Given the description of an element on the screen output the (x, y) to click on. 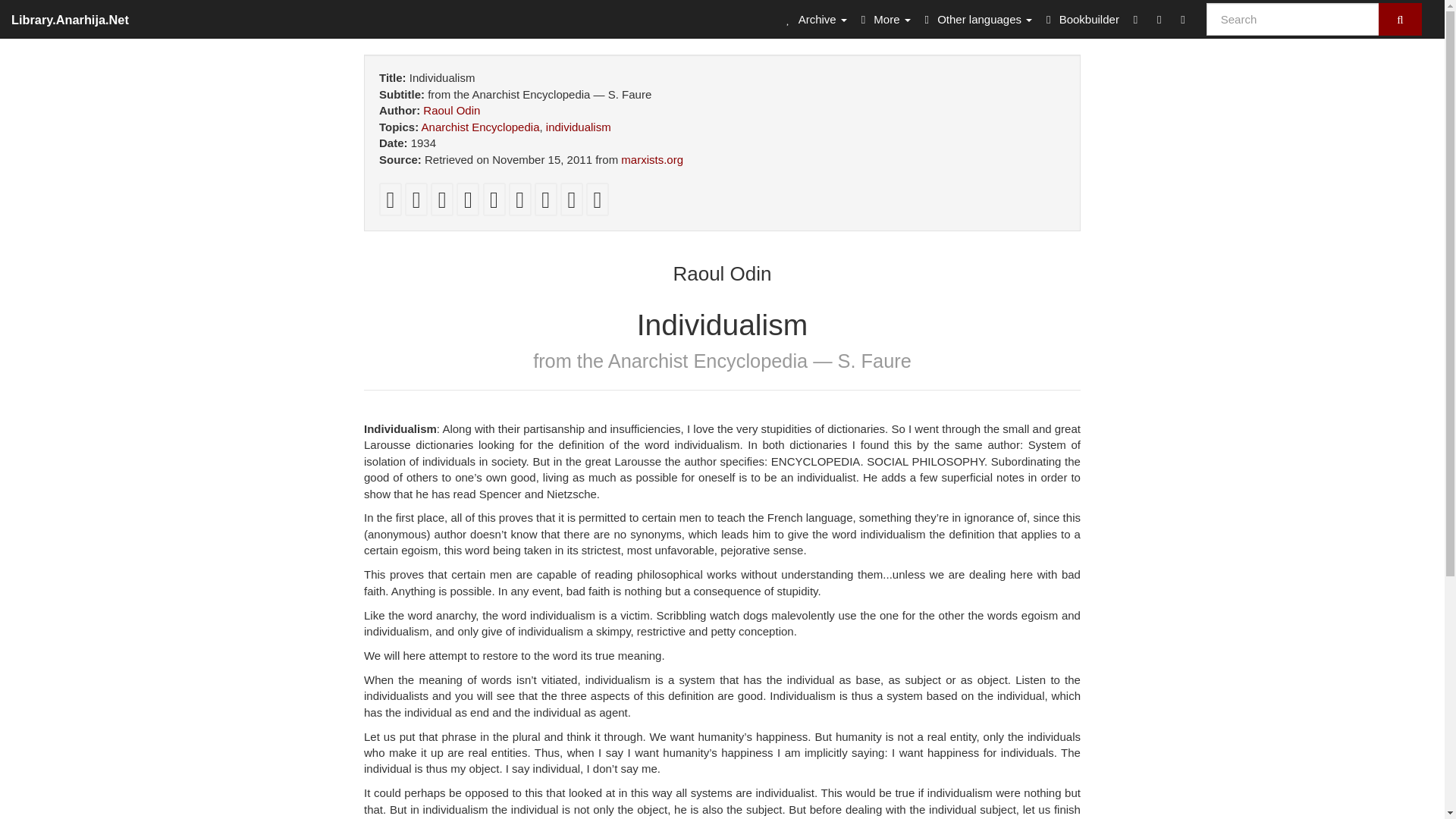
Raoul Odin (451, 110)
More (883, 18)
Bookbuilder (1080, 18)
Plain PDF (389, 203)
individualism (578, 126)
marxists.org (651, 159)
texts by authors, title, topic... (813, 18)
Anarchist Encyclopedia (481, 126)
Library.Anarhija.Net (69, 18)
Other languages (975, 18)
